Given the description of an element on the screen output the (x, y) to click on. 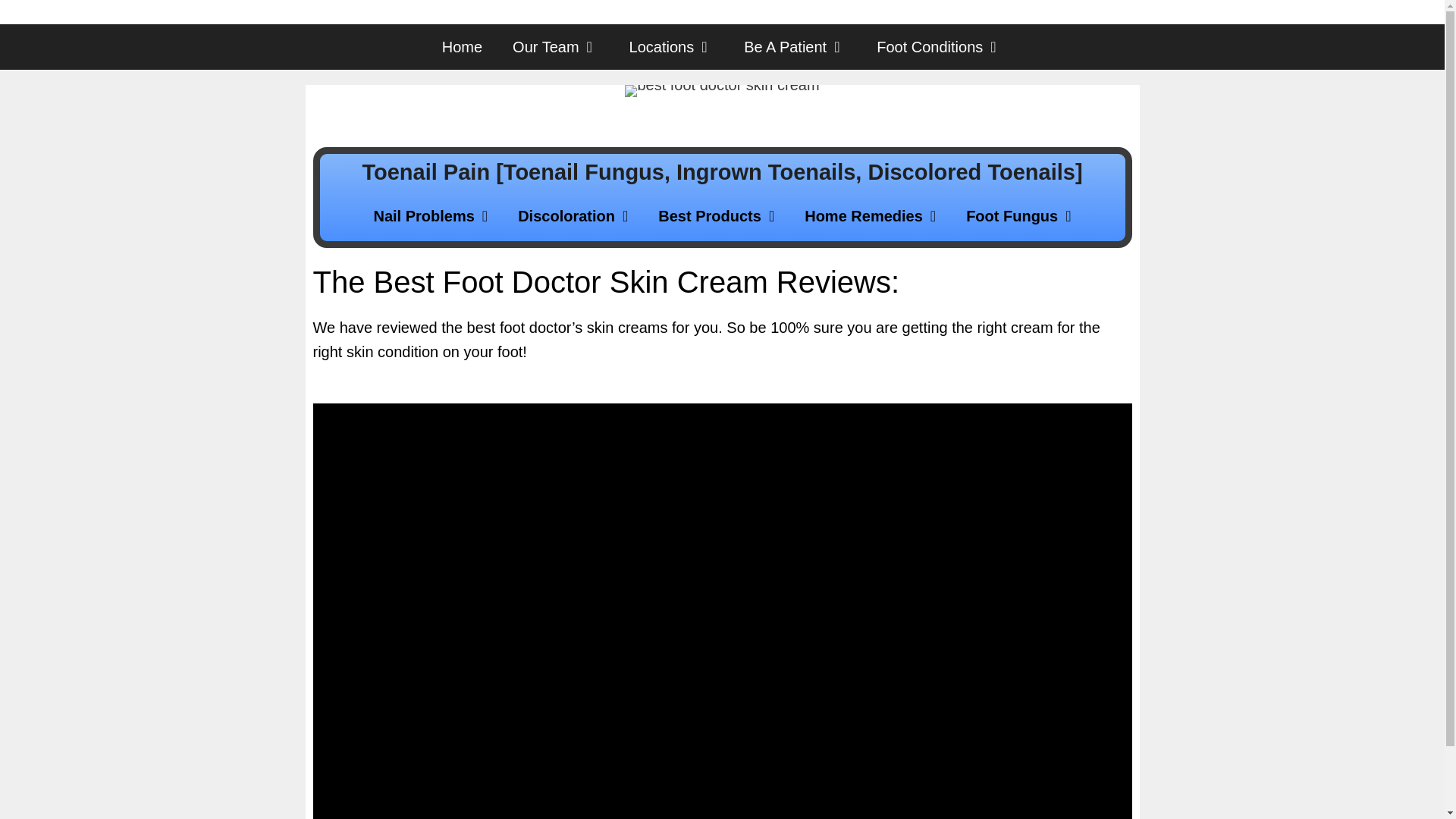
Home (461, 46)
Best Foot Doctor Skin Cream 1 (721, 91)
Be A Patient (795, 46)
Locations (671, 46)
Foot Conditions (939, 46)
Our Team (554, 46)
